Given the description of an element on the screen output the (x, y) to click on. 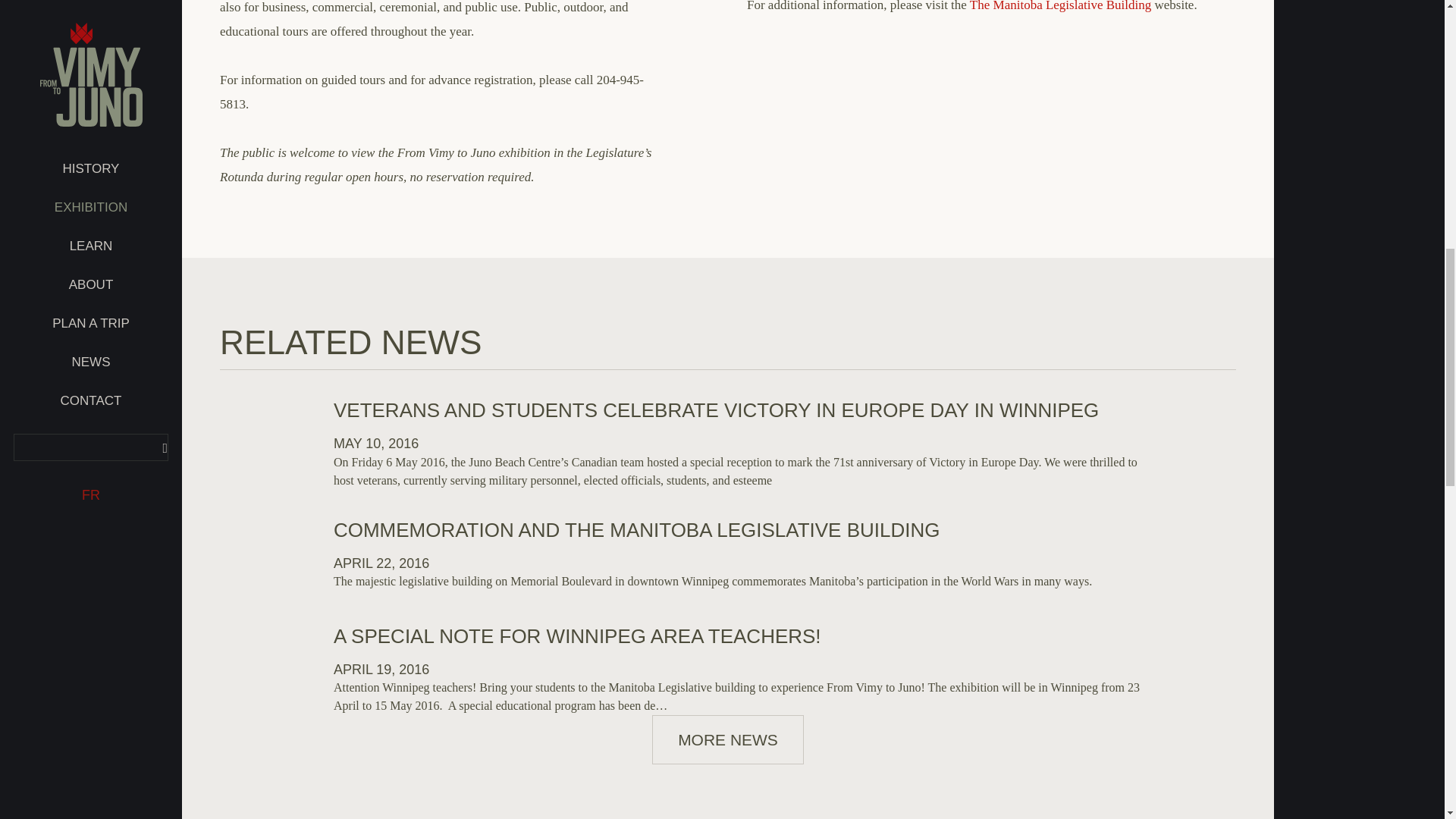
MORE NEWS (727, 739)
The Manitoba Legislative Building (1060, 6)
